Given the description of an element on the screen output the (x, y) to click on. 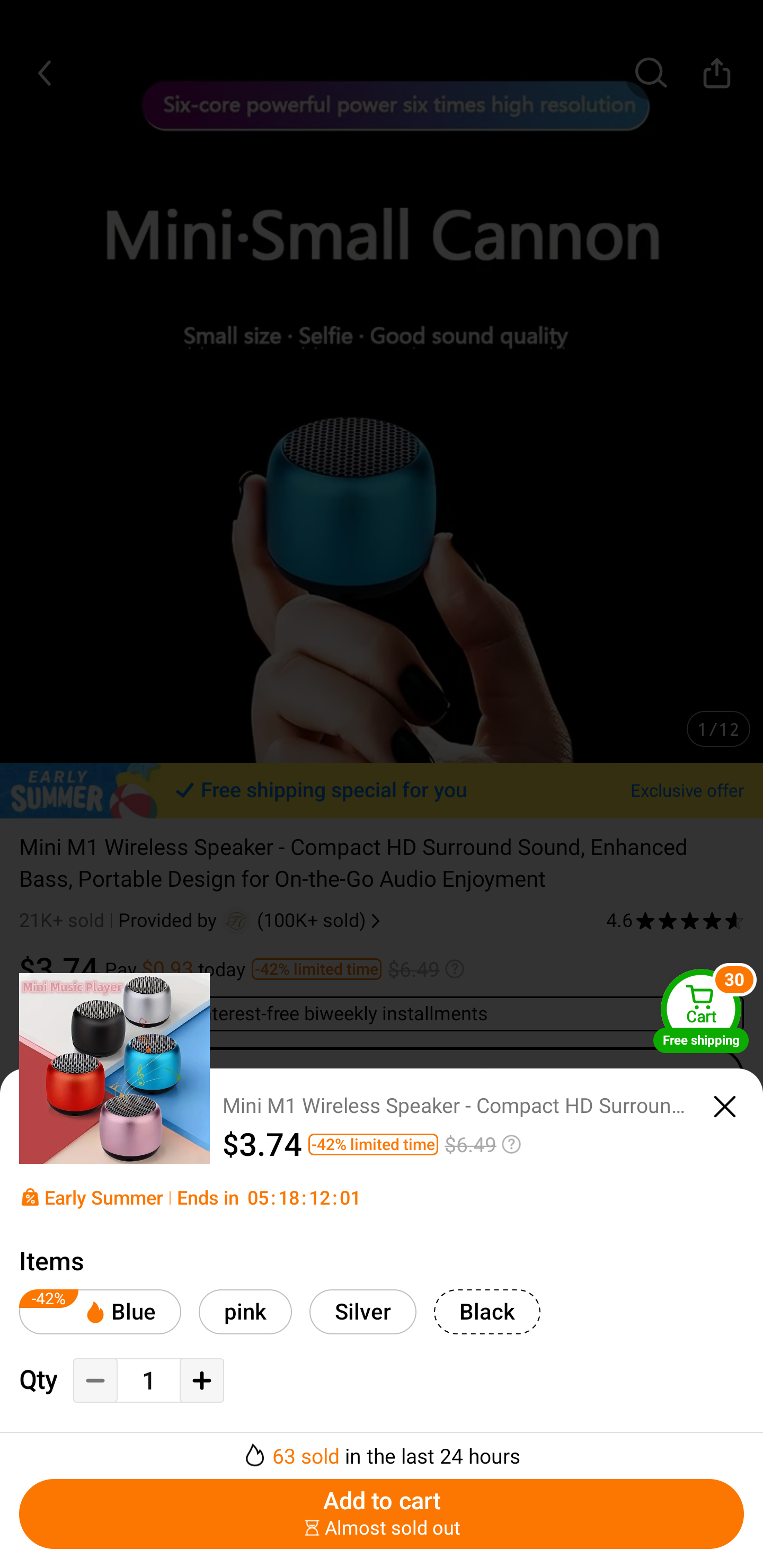
Cart Free shipping Cart (701, 1010)
close (724, 1106)
  Blue (100, 1311)
 pink (245, 1311)
 Silver (362, 1311)
 Black (487, 1311)
Decrease Quantity Button (95, 1380)
Add Quantity Button (201, 1380)
1 (148, 1381)
￼￼63 sold in the last 24 hours (381, 1450)
Add to cart ￼￼Almost sold out (381, 1513)
